Given the description of an element on the screen output the (x, y) to click on. 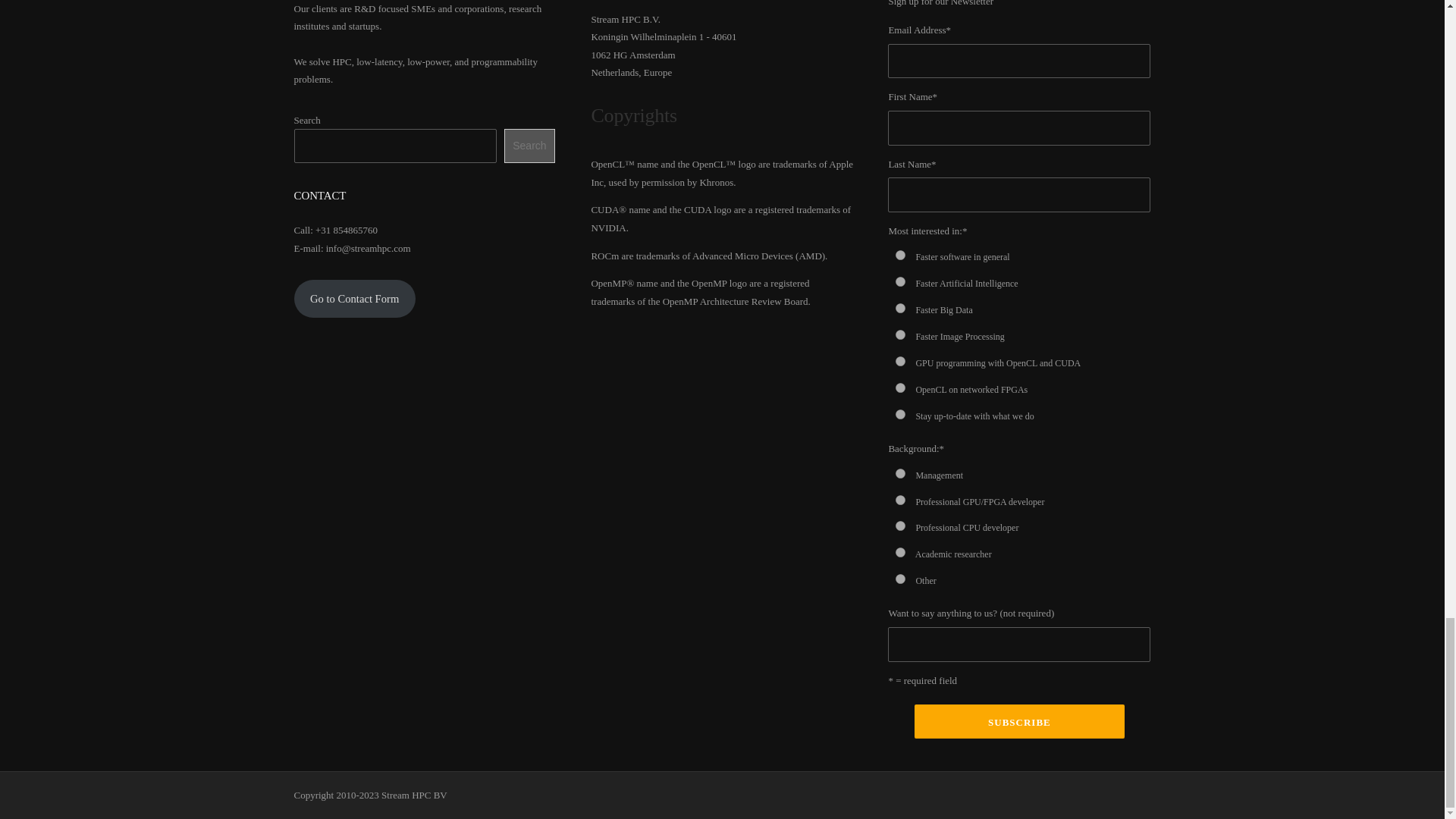
Professional CPU developer (900, 525)
OpenCL on networked FPGAs (900, 388)
Faster Big Data (900, 307)
Faster software in general (900, 255)
Faster Image Processing (900, 334)
Management (900, 473)
Other (900, 578)
GPU programming with OpenCL and CUDA (900, 361)
Subscribe (1019, 721)
Academic researcher (900, 552)
Stay up-to-date with what we do (900, 414)
Faster Artificial Intelligence (900, 281)
